Given the description of an element on the screen output the (x, y) to click on. 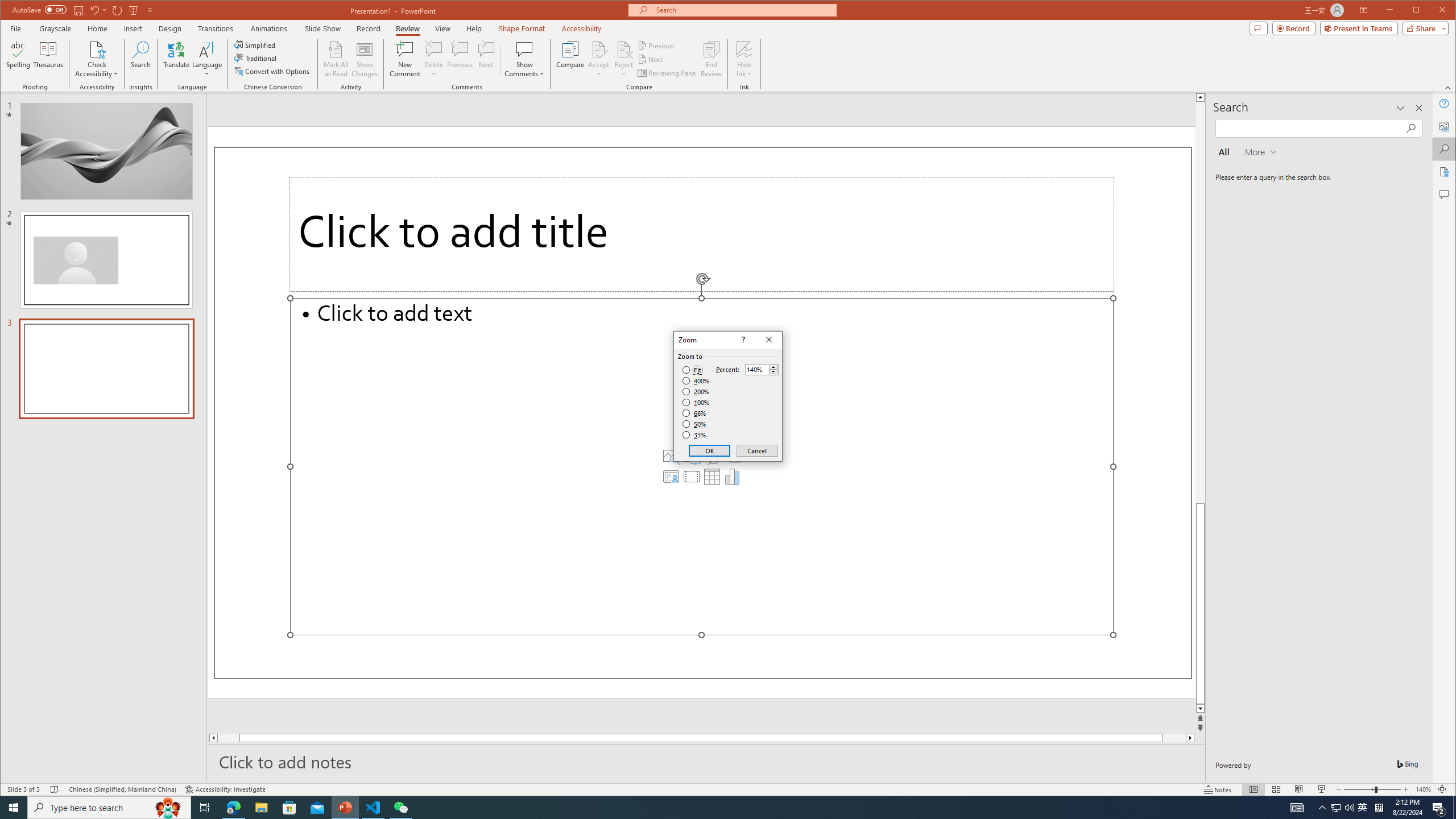
Mark All as Read (335, 59)
Traditional (256, 57)
Accept Change (598, 48)
